Given the description of an element on the screen output the (x, y) to click on. 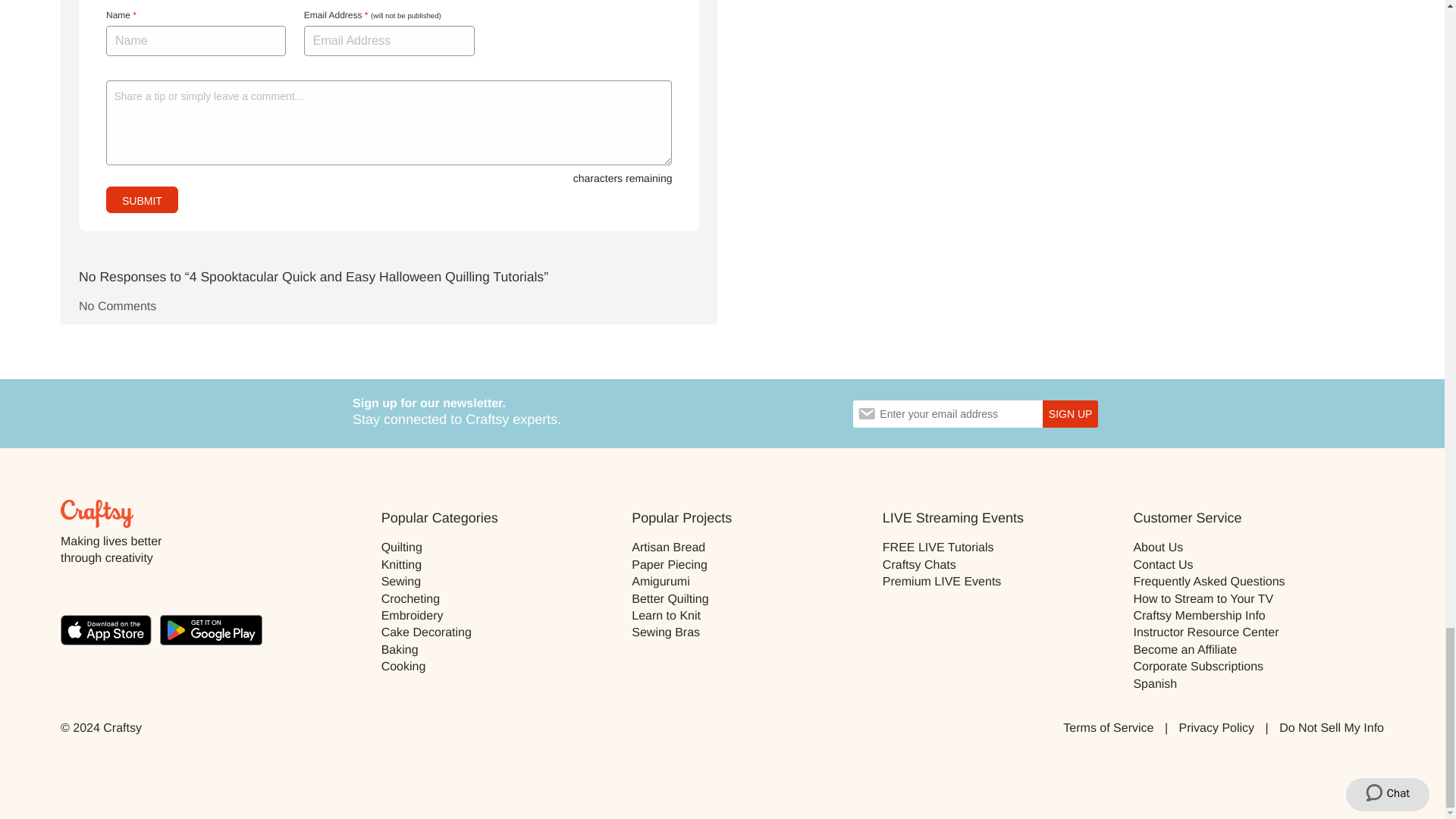
Home (97, 513)
Sign Up (1069, 413)
Submit (141, 199)
Submit (141, 199)
Sign Up (1069, 413)
